Given the description of an element on the screen output the (x, y) to click on. 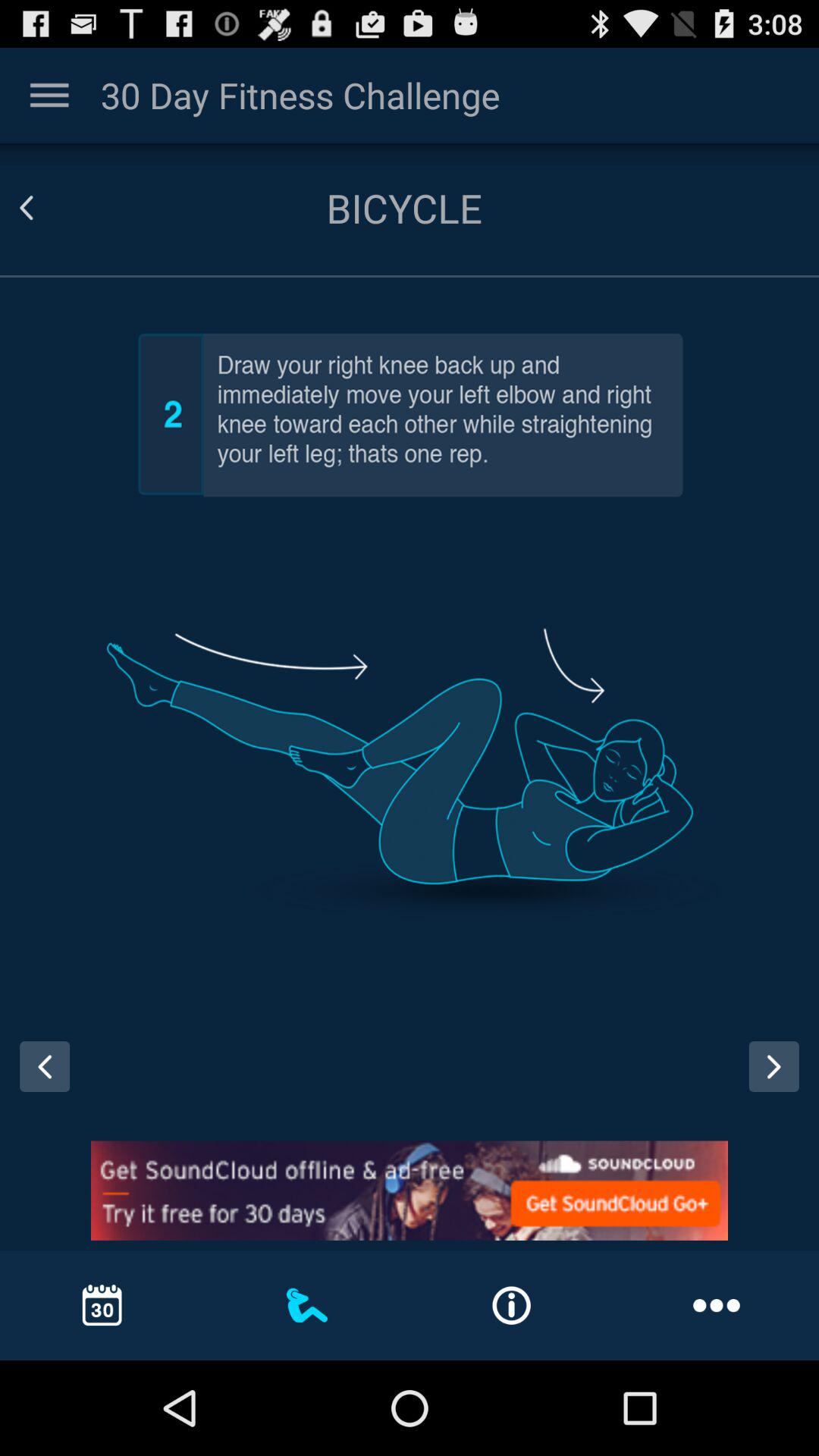
goto back (44, 208)
